Given the description of an element on the screen output the (x, y) to click on. 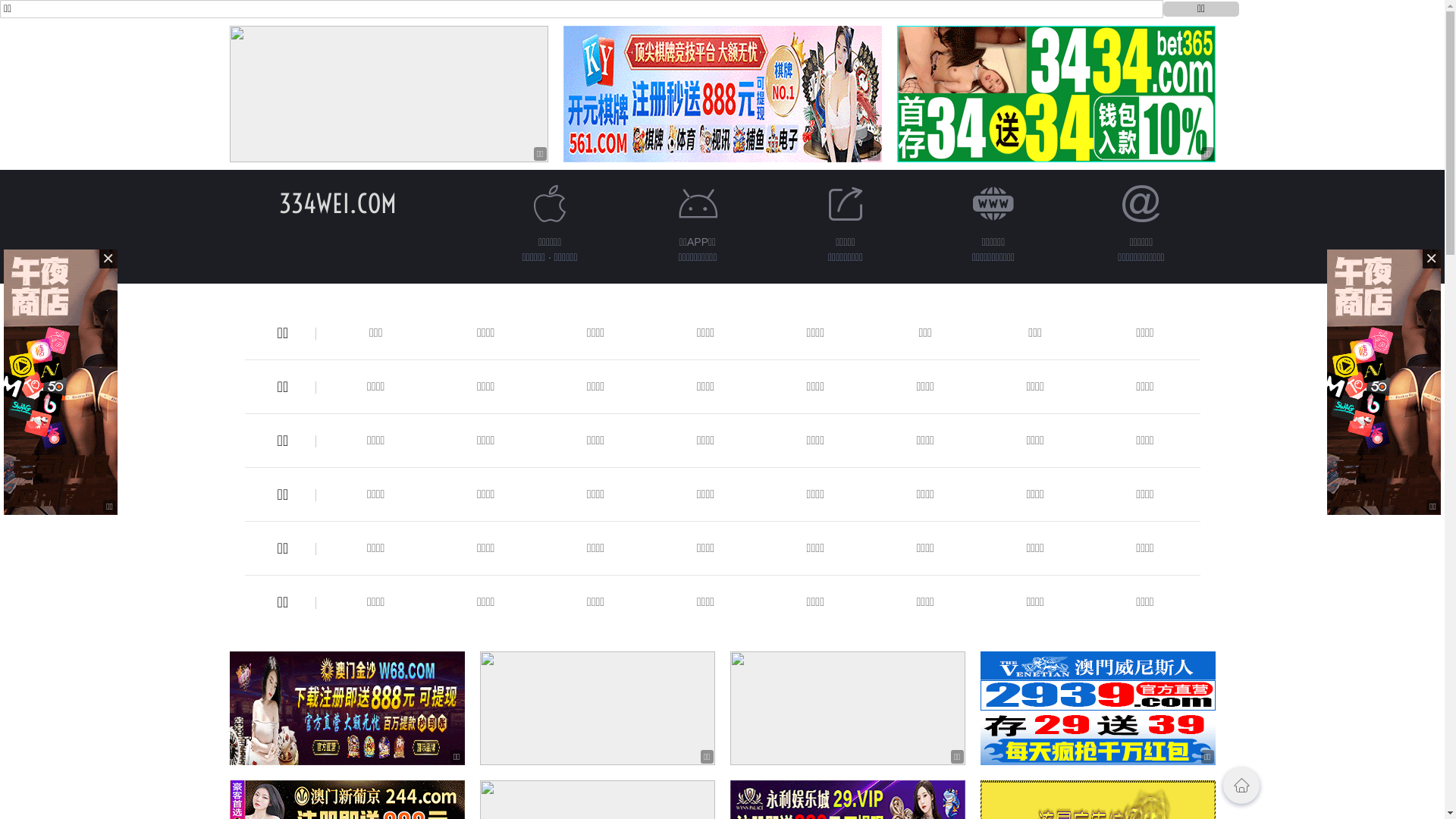
334WEI.COM Element type: text (337, 203)
